Given the description of an element on the screen output the (x, y) to click on. 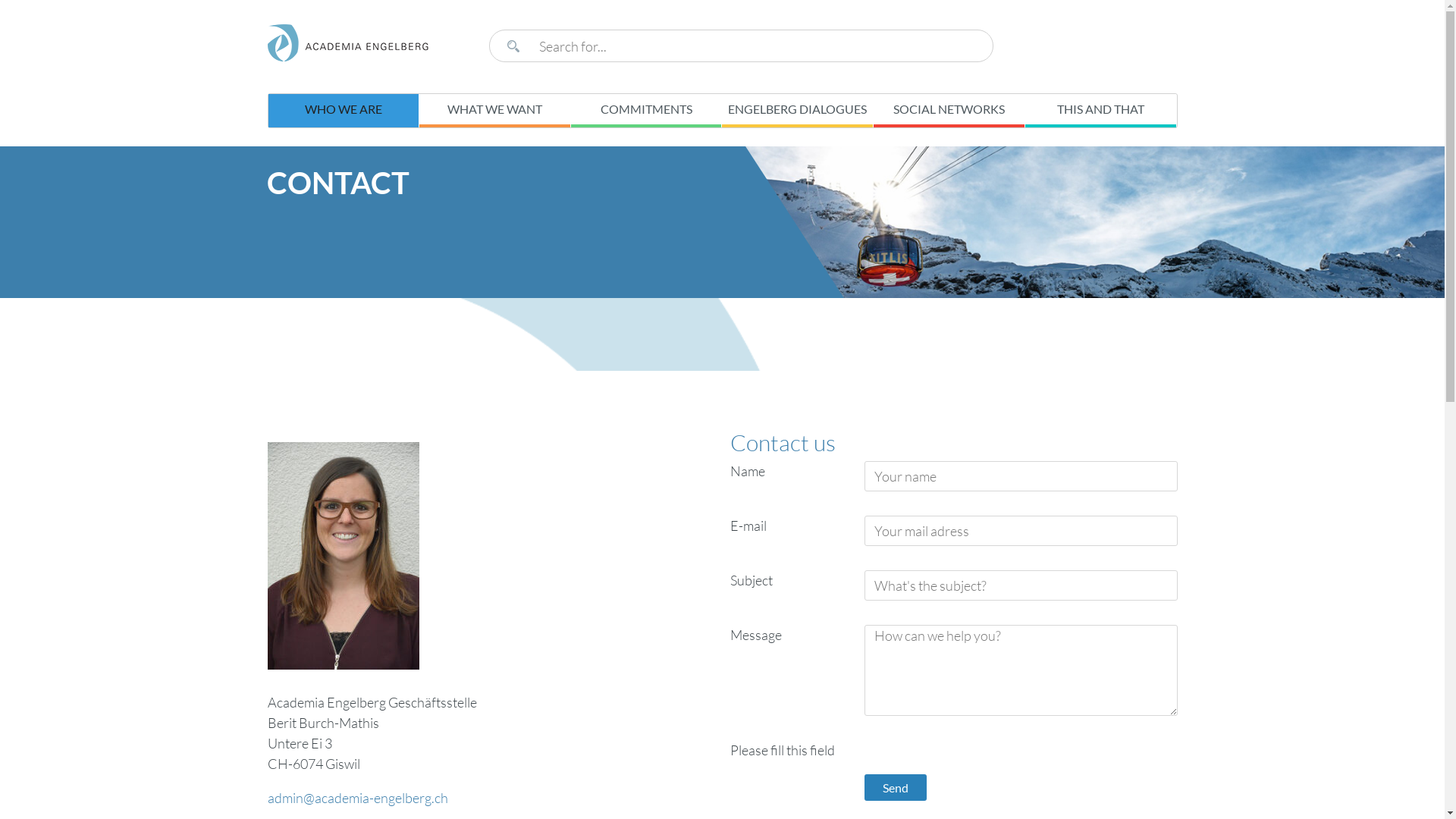
Send Element type: text (895, 787)
THIS AND THAT Element type: text (1100, 110)
SOCIAL NETWORKS Element type: text (948, 110)
admin@academia-engelberg.ch Element type: text (356, 797)
ENGELBERG DIALOGUES Element type: text (796, 110)
WHO WE ARE Element type: text (343, 110)
COMMITMENTS Element type: text (646, 110)
WHAT WE WANT Element type: text (494, 110)
